Given the description of an element on the screen output the (x, y) to click on. 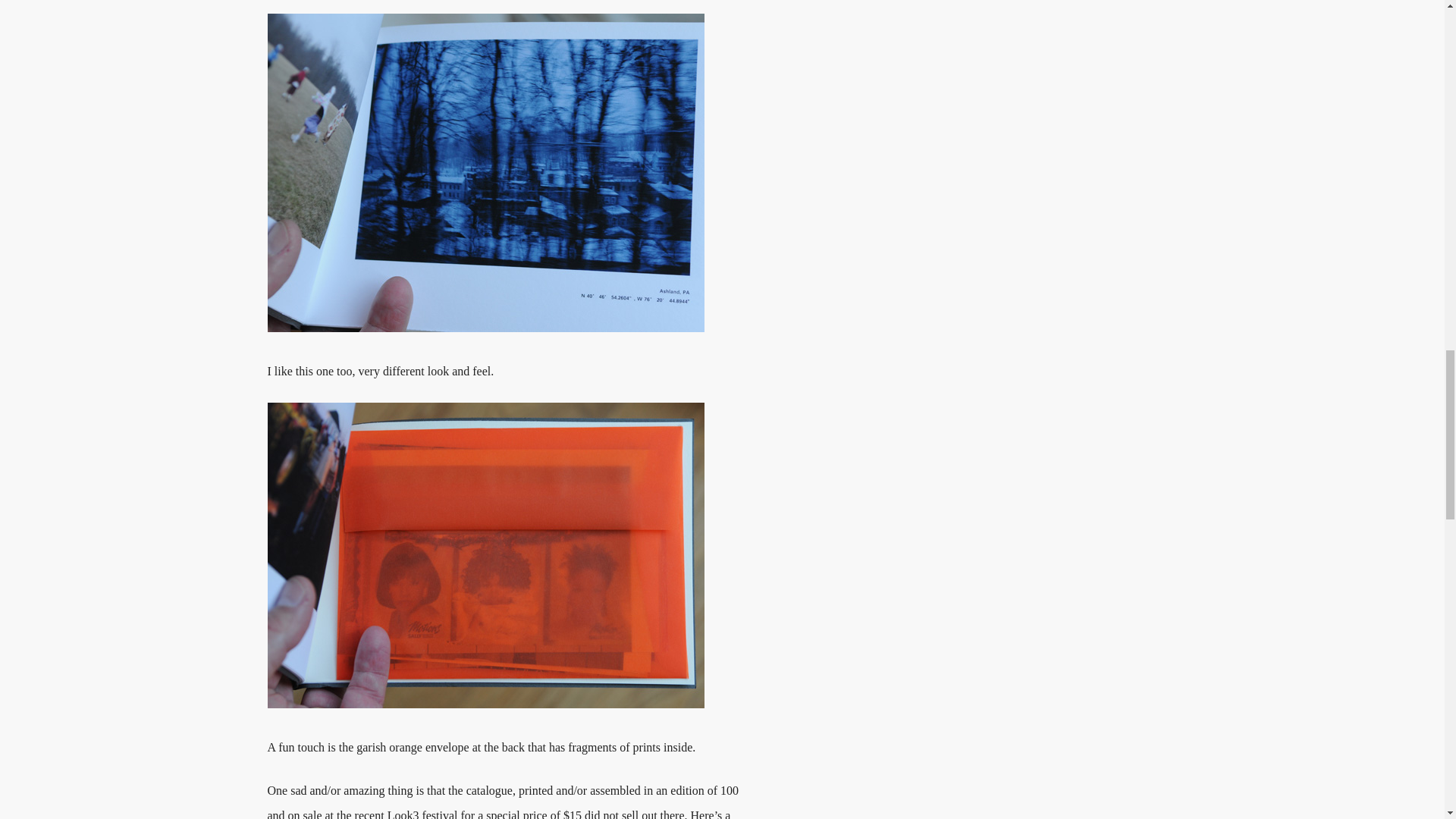
Look3 (403, 814)
Look3 (403, 814)
Luceo -You Are Here Catalogue 4 (484, 555)
